Given the description of an element on the screen output the (x, y) to click on. 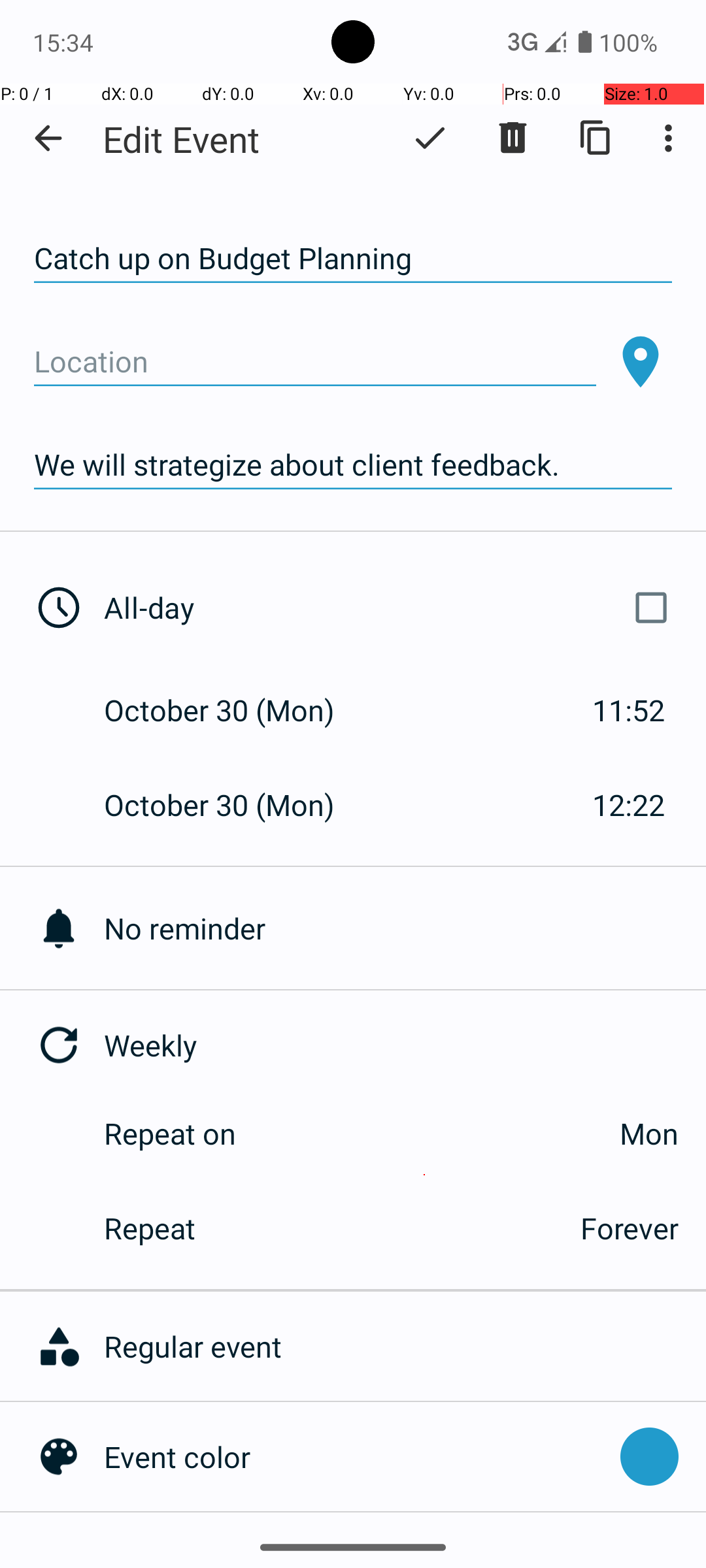
Catch up on Budget Planning Element type: android.widget.EditText (352, 258)
We will strategize about client feedback. Element type: android.widget.EditText (352, 465)
October 30 (Mon) Element type: android.widget.TextView (232, 709)
11:52 Element type: android.widget.TextView (628, 709)
12:22 Element type: android.widget.TextView (628, 804)
Weekly Element type: android.widget.TextView (404, 1044)
Repeat on Element type: android.widget.TextView (169, 1132)
Mon Element type: android.widget.TextView (470, 1132)
Repeat Element type: android.widget.TextView (328, 1227)
Forever Element type: android.widget.TextView (629, 1227)
